Given the description of an element on the screen output the (x, y) to click on. 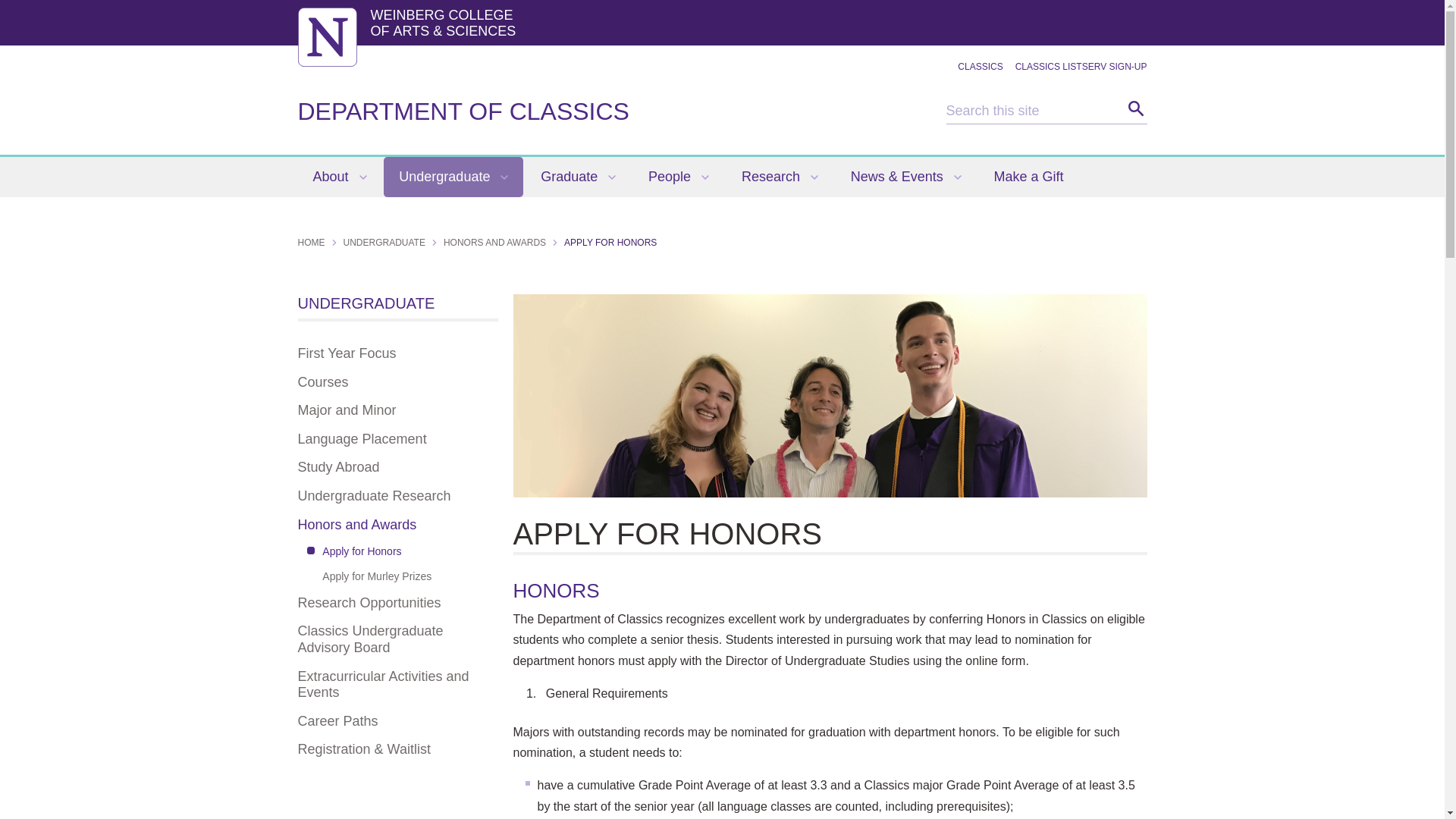
DEPARTMENT OF CLASSICS (462, 110)
CLASSICS LISTSERV SIGN-UP (1080, 66)
CLASSICS (980, 66)
